Given the description of an element on the screen output the (x, y) to click on. 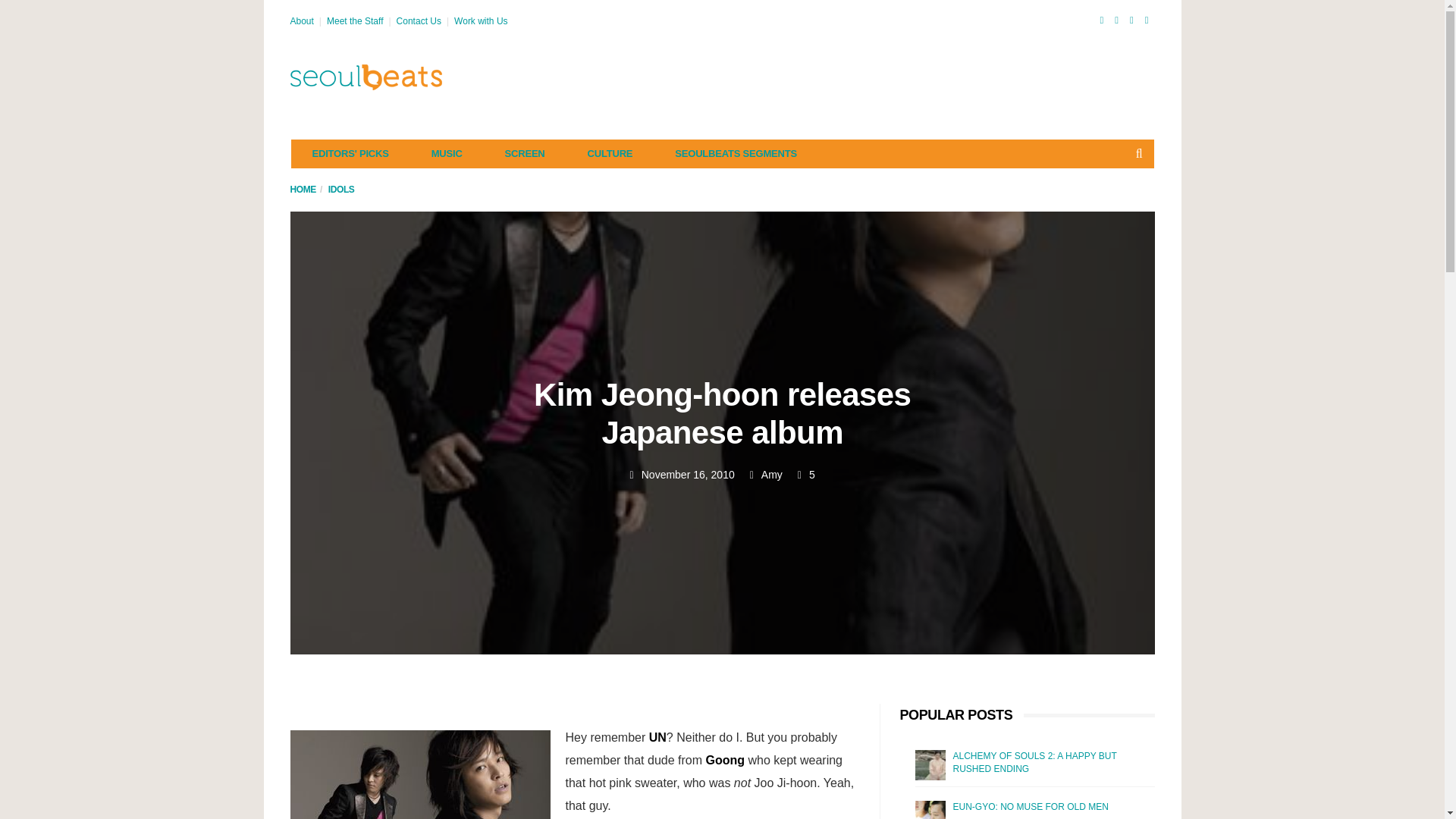
About (301, 20)
Work with Us (480, 20)
Advertisement (878, 77)
MUSIC (446, 153)
Meet the Staff (355, 20)
EDITORS' PICKS (350, 153)
Contact Us (418, 20)
